Given the description of an element on the screen output the (x, y) to click on. 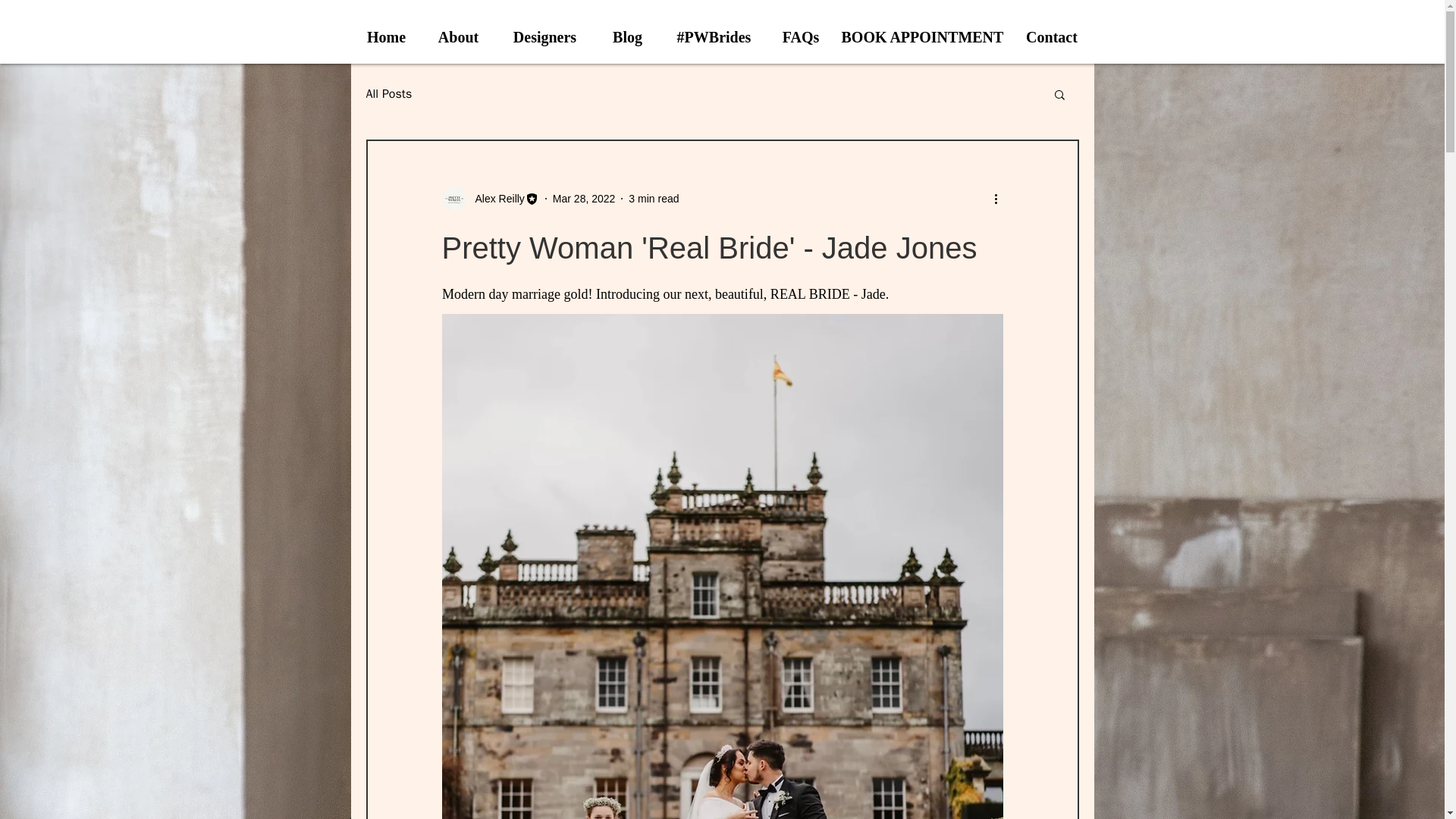
3 min read (653, 198)
FAQs (799, 35)
Contact (1052, 35)
All Posts (388, 94)
About (458, 35)
Alex Reilly (489, 198)
Home (386, 35)
Alex Reilly (494, 198)
Blog (626, 35)
BOOK APPOINTMENT (922, 35)
